Given the description of an element on the screen output the (x, y) to click on. 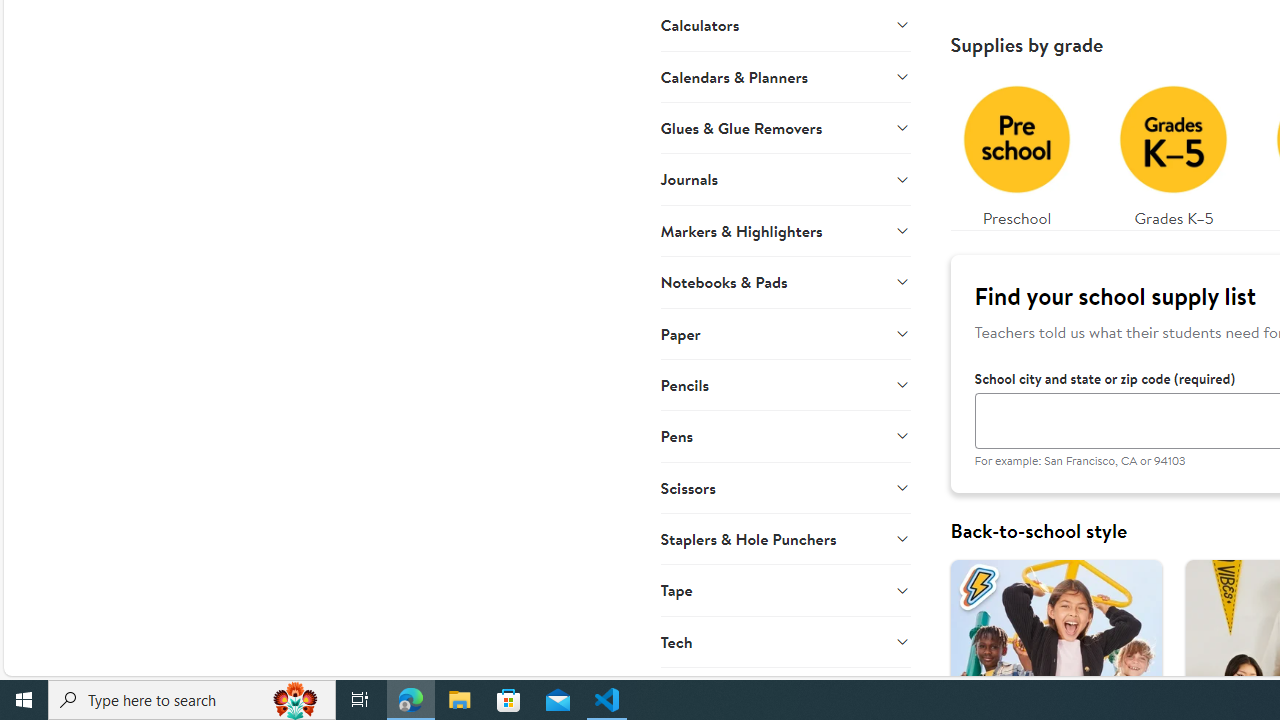
Preschool (1016, 150)
Pens (785, 435)
Staplers & Hole Punchers (785, 538)
Journals (785, 178)
Pencils (785, 384)
Paper (785, 332)
Glues & Glue Removers (785, 127)
Whiteboards & Blackboards (785, 692)
Tape (785, 589)
